Given the description of an element on the screen output the (x, y) to click on. 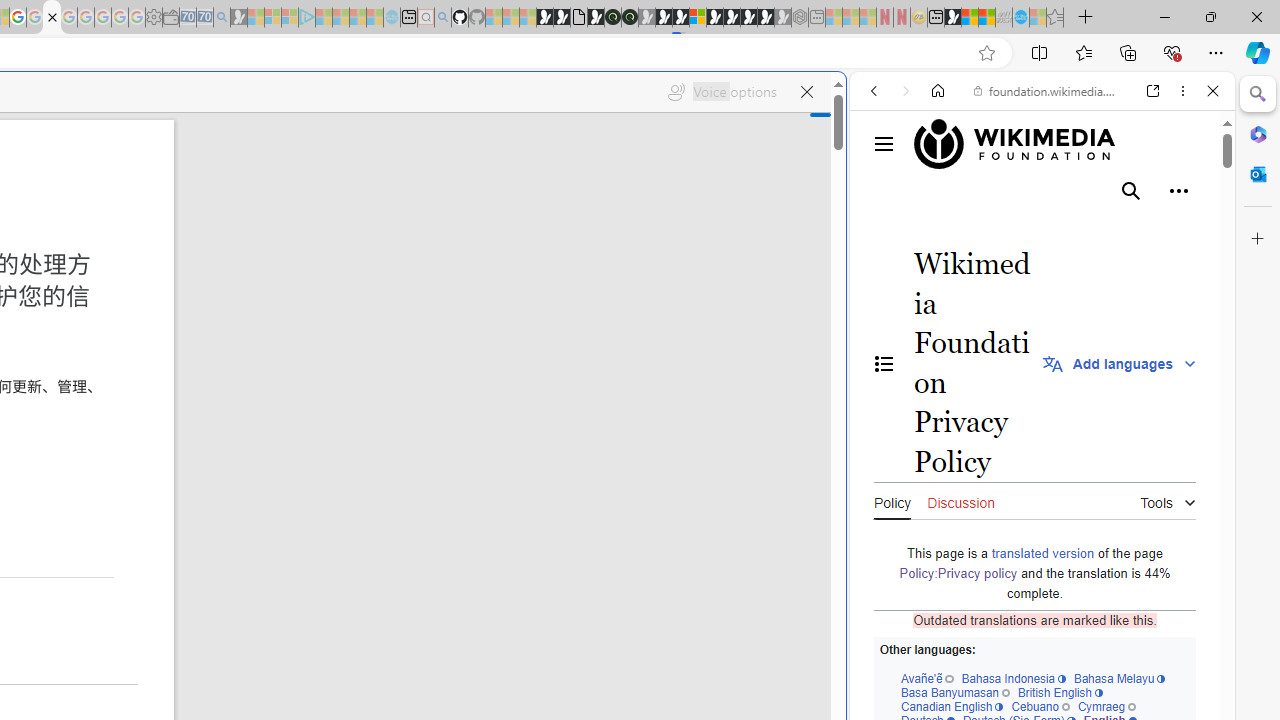
Main menu (883, 143)
Toggle the table of contents (883, 363)
